Given the description of an element on the screen output the (x, y) to click on. 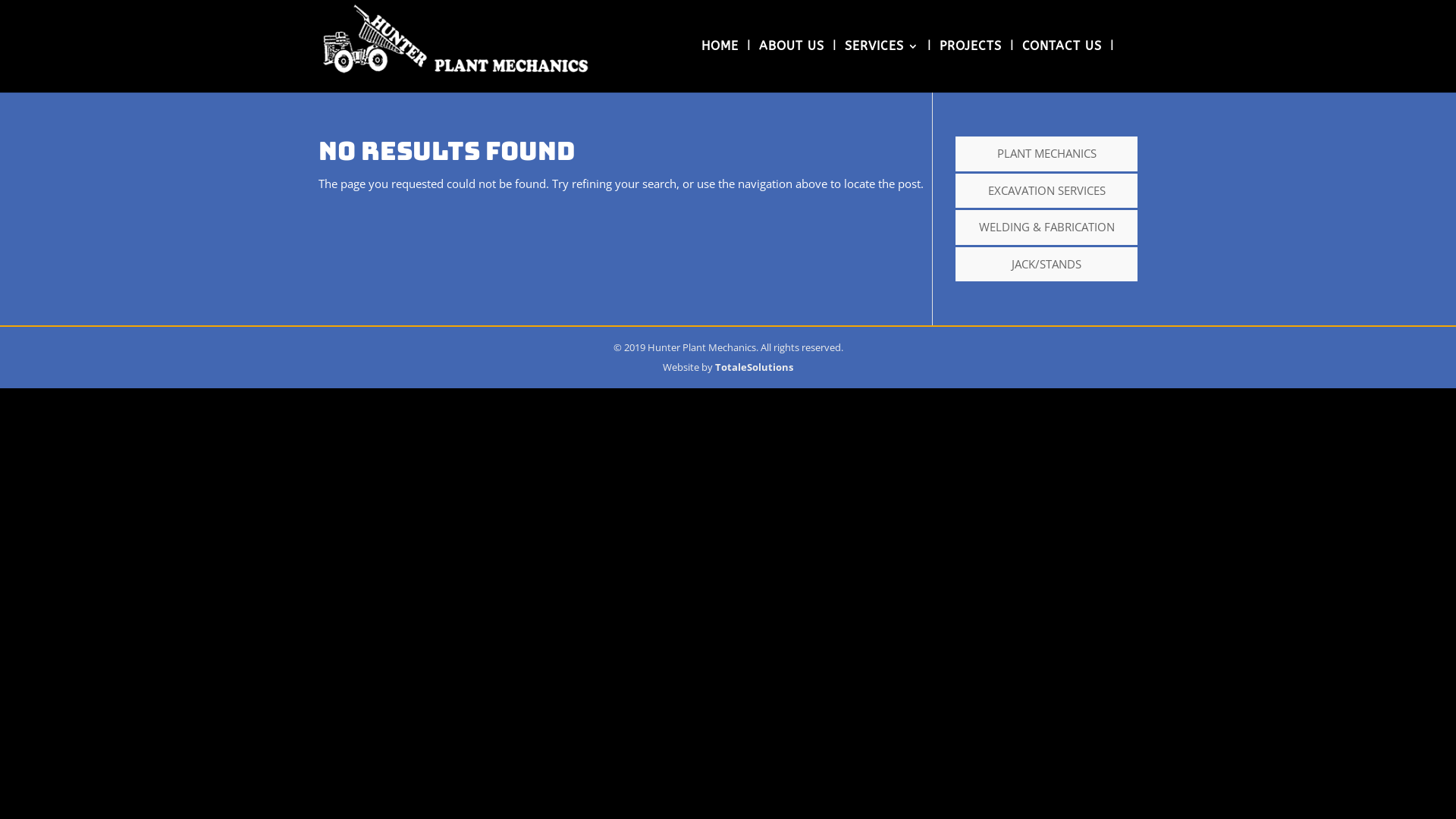
ABOUT US Element type: text (791, 66)
PROJECTS Element type: text (970, 66)
HOME Element type: text (719, 66)
WELDING & FABRICATION Element type: text (1045, 226)
EXCAVATION SERVICES Element type: text (1045, 189)
SERVICES Element type: text (881, 66)
TotaleSolutions Element type: text (754, 366)
CONTACT US Element type: text (1061, 66)
JACK/STANDS Element type: text (1046, 263)
PLANT MECHANICS Element type: text (1045, 152)
